Given the description of an element on the screen output the (x, y) to click on. 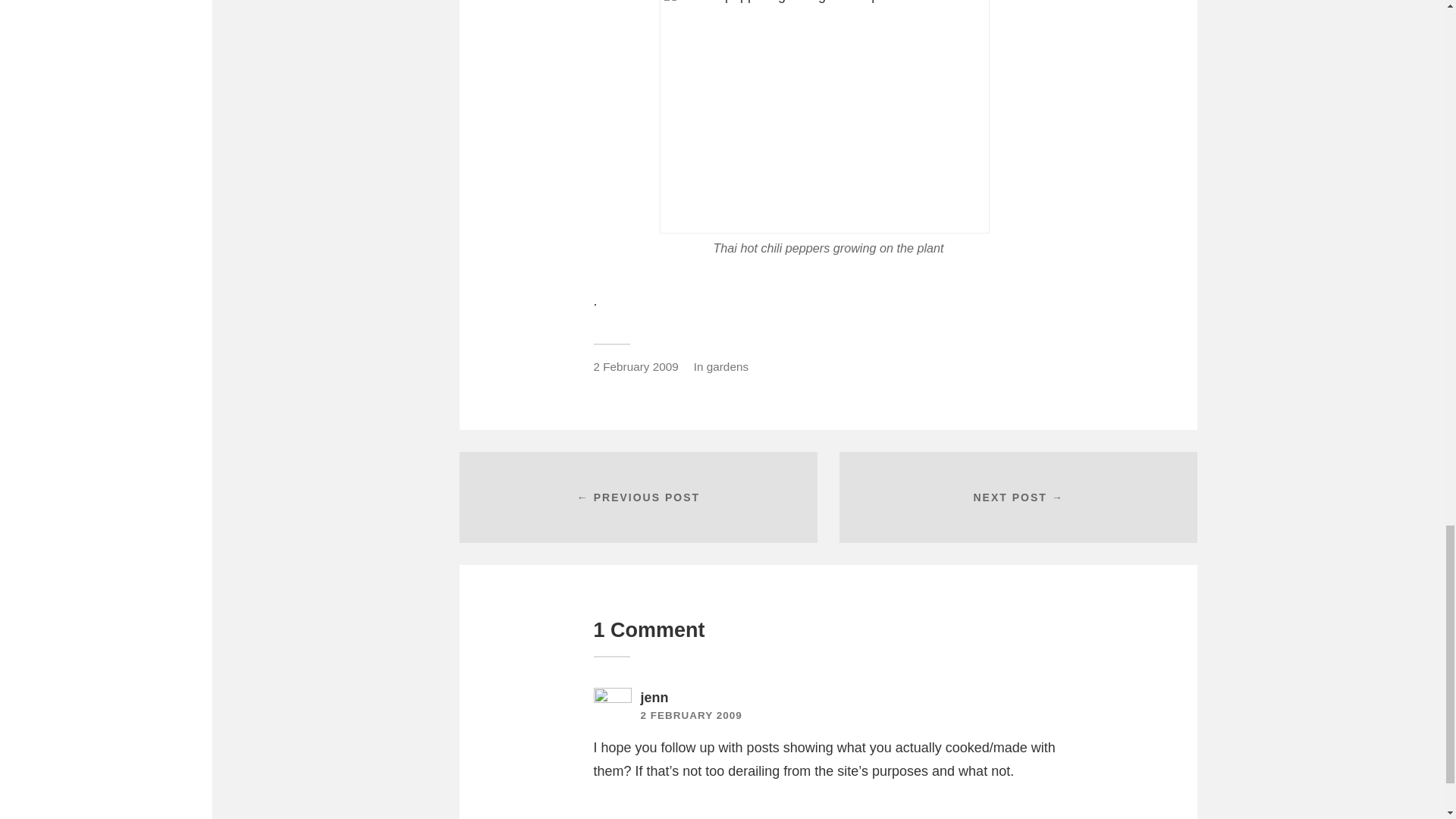
2 FEBRUARY 2009 (690, 715)
2 February 2009 (635, 366)
jenn (654, 697)
thai hot peppers growing on the plant (824, 116)
gardens (727, 366)
